Given the description of an element on the screen output the (x, y) to click on. 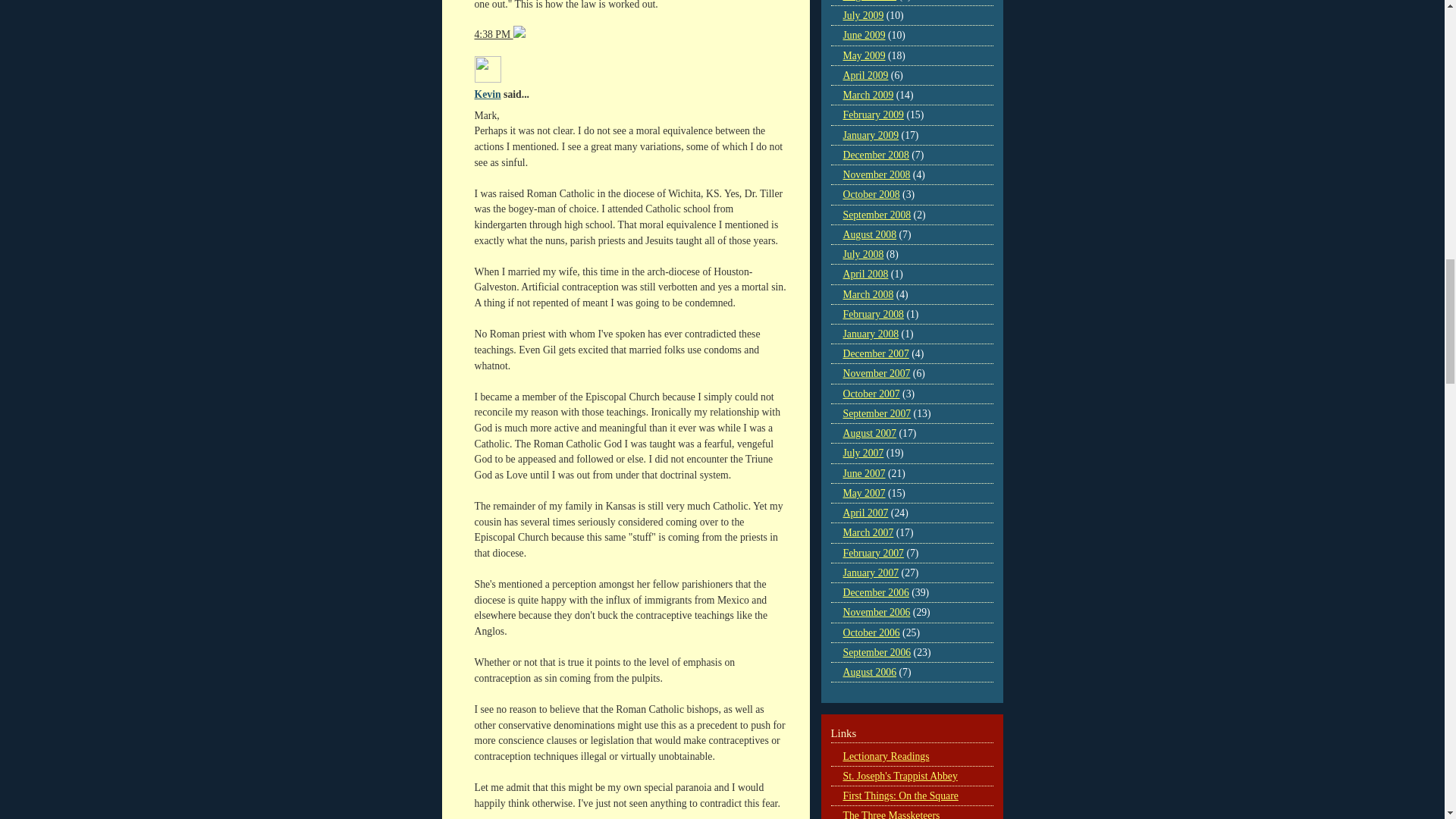
Kevin (487, 69)
Delete Comment (519, 34)
comment permalink (493, 34)
Kevin (487, 93)
4:38 PM (493, 34)
